Given the description of an element on the screen output the (x, y) to click on. 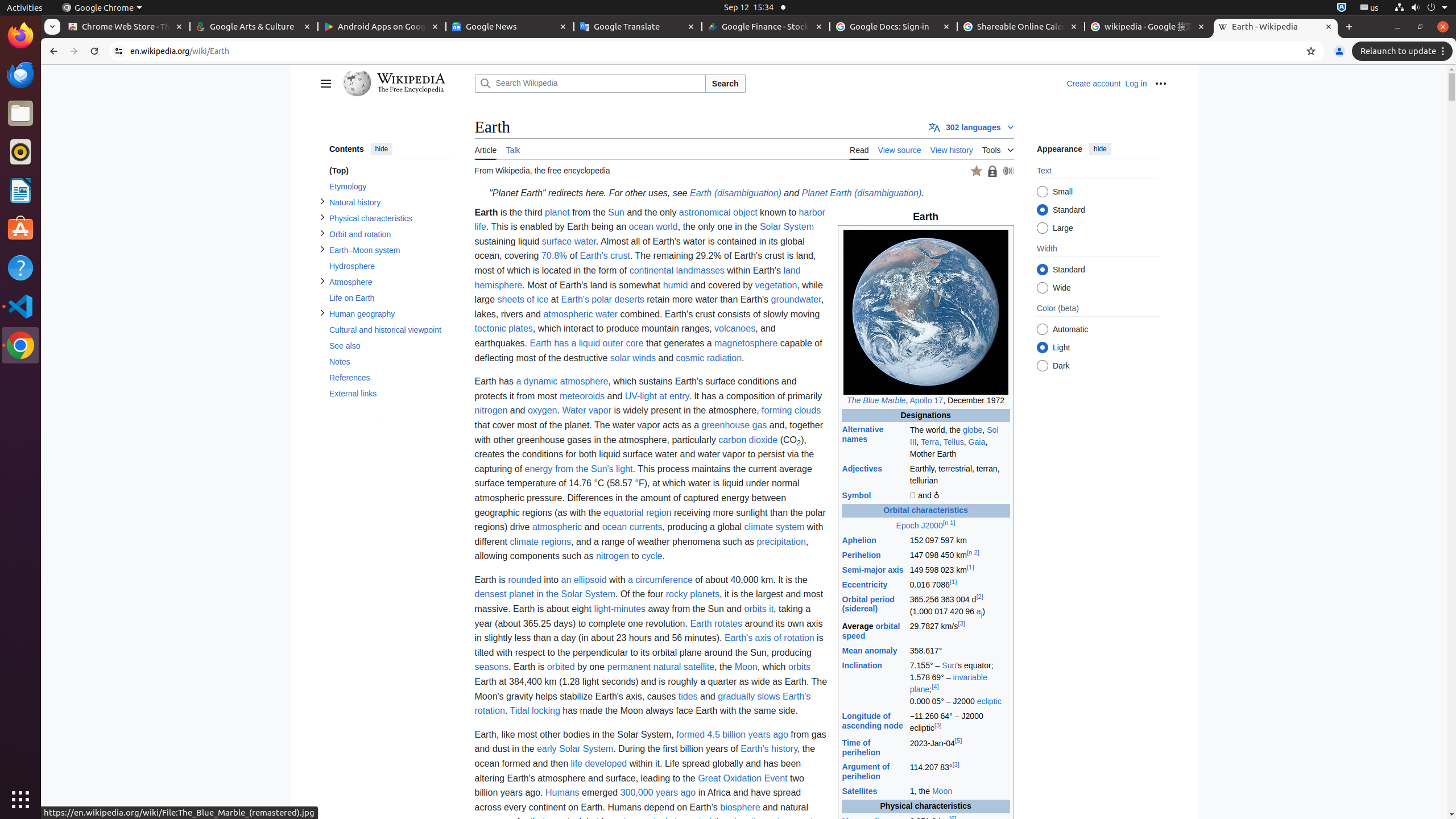
natural satellite Element type: link (683, 667)
Show Applications Element type: toggle-button (20, 799)
Google News - Memory usage - 55.6 MB Element type: page-tab (509, 26)
a circumference Element type: link (659, 579)
groundwater Element type: link (795, 299)
